Given the description of an element on the screen output the (x, y) to click on. 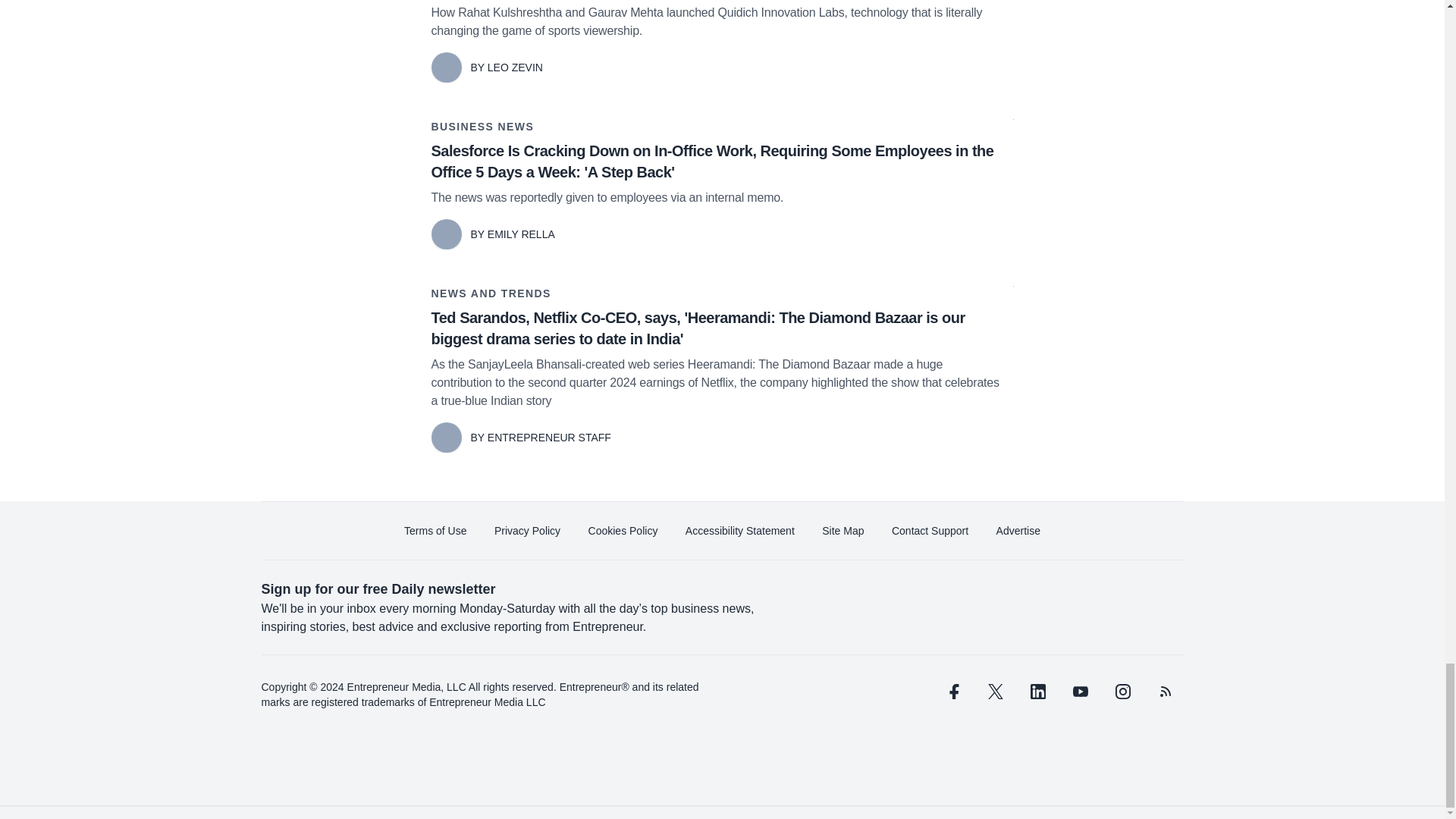
youtube (1079, 691)
twitter (994, 691)
rss (1164, 691)
facebook (952, 691)
linkedin (1037, 691)
instagram (1121, 691)
